Given the description of an element on the screen output the (x, y) to click on. 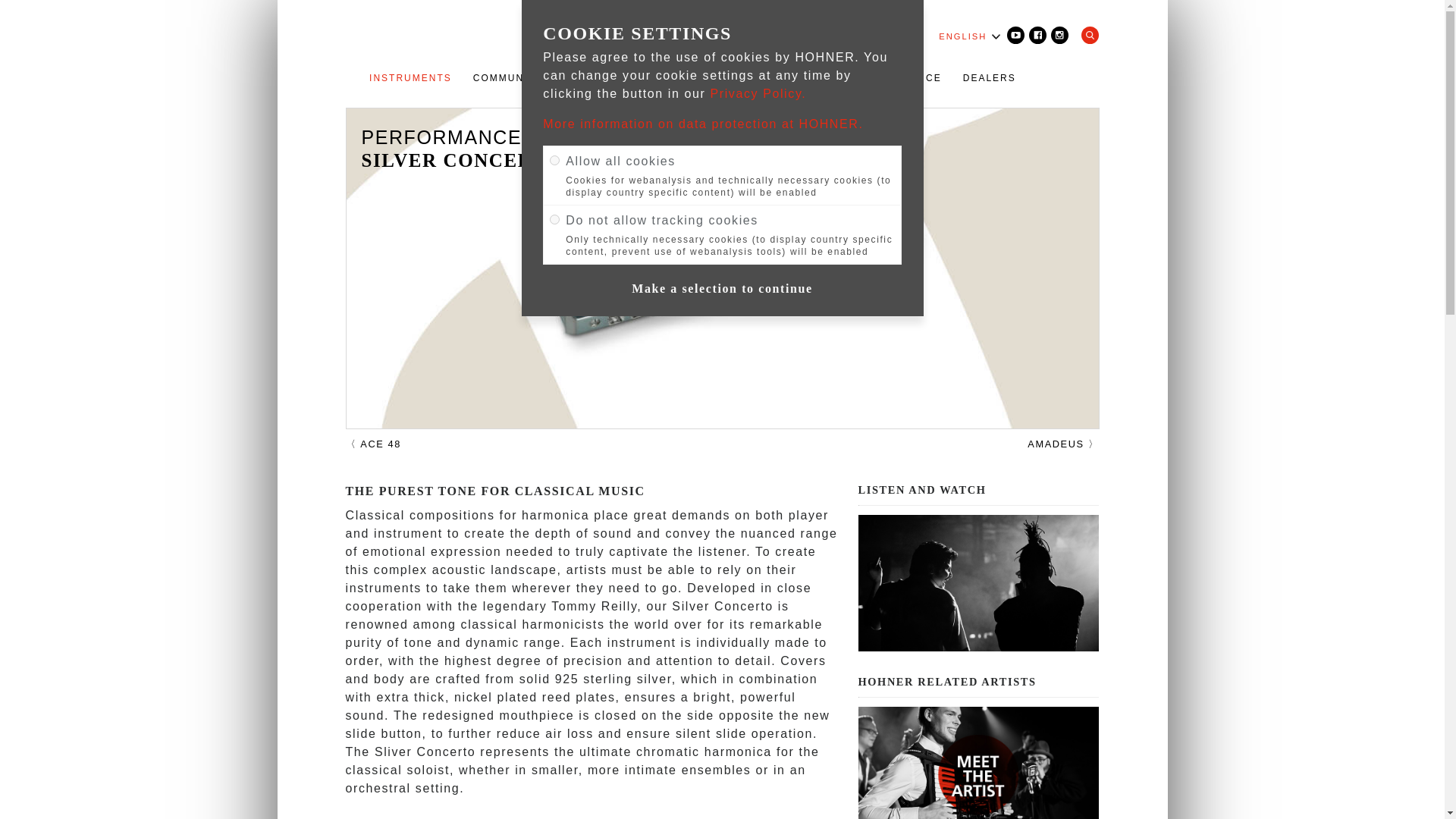
More information on data protection at HOHNER. (703, 123)
ACE 48 (373, 443)
on (554, 219)
on (554, 160)
INSTRUMENTS (410, 78)
Privacy Policy. (758, 92)
Amadeus (1063, 443)
